Given the description of an element on the screen output the (x, y) to click on. 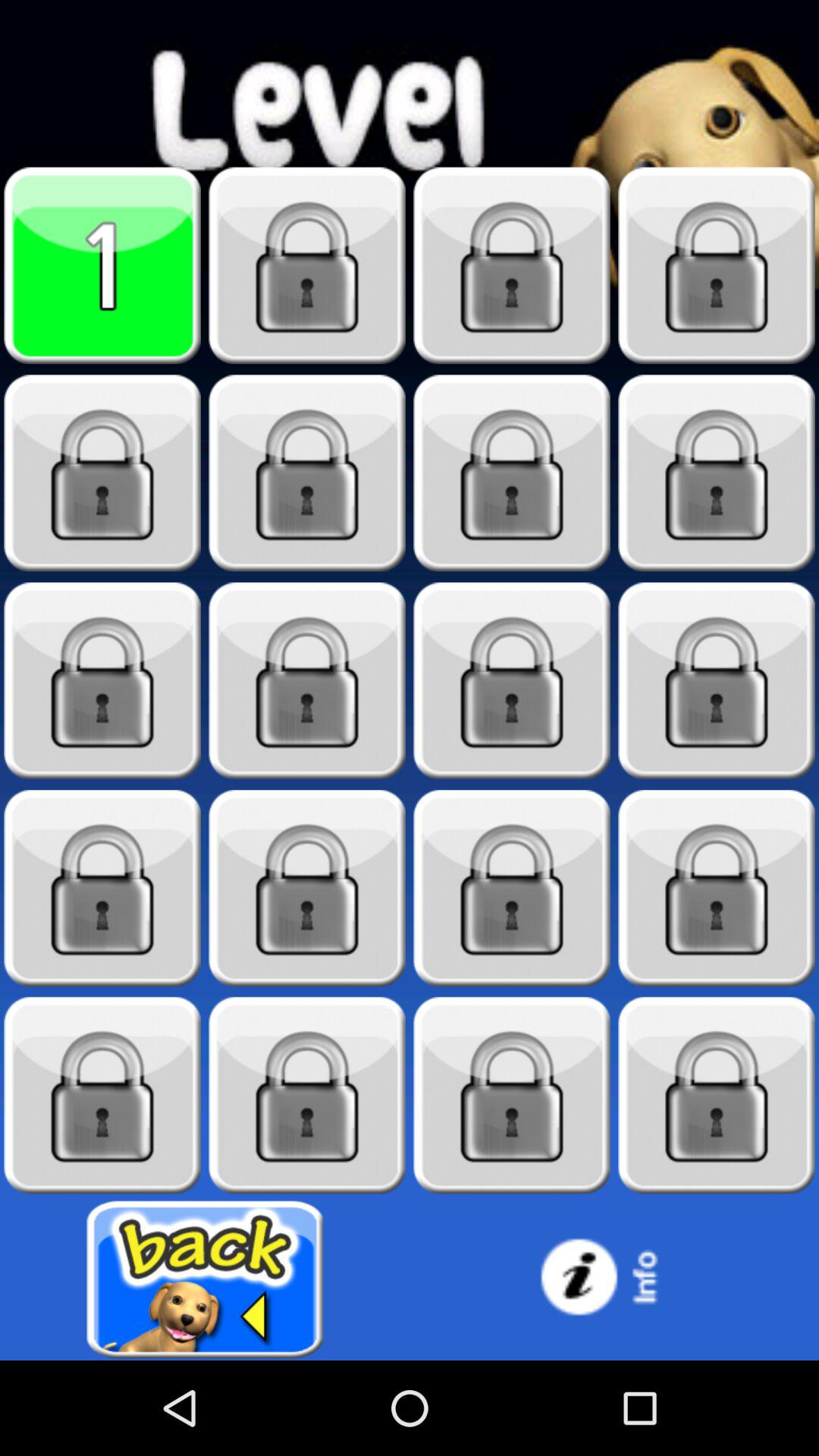
random padlock option (511, 473)
